Given the description of an element on the screen output the (x, y) to click on. 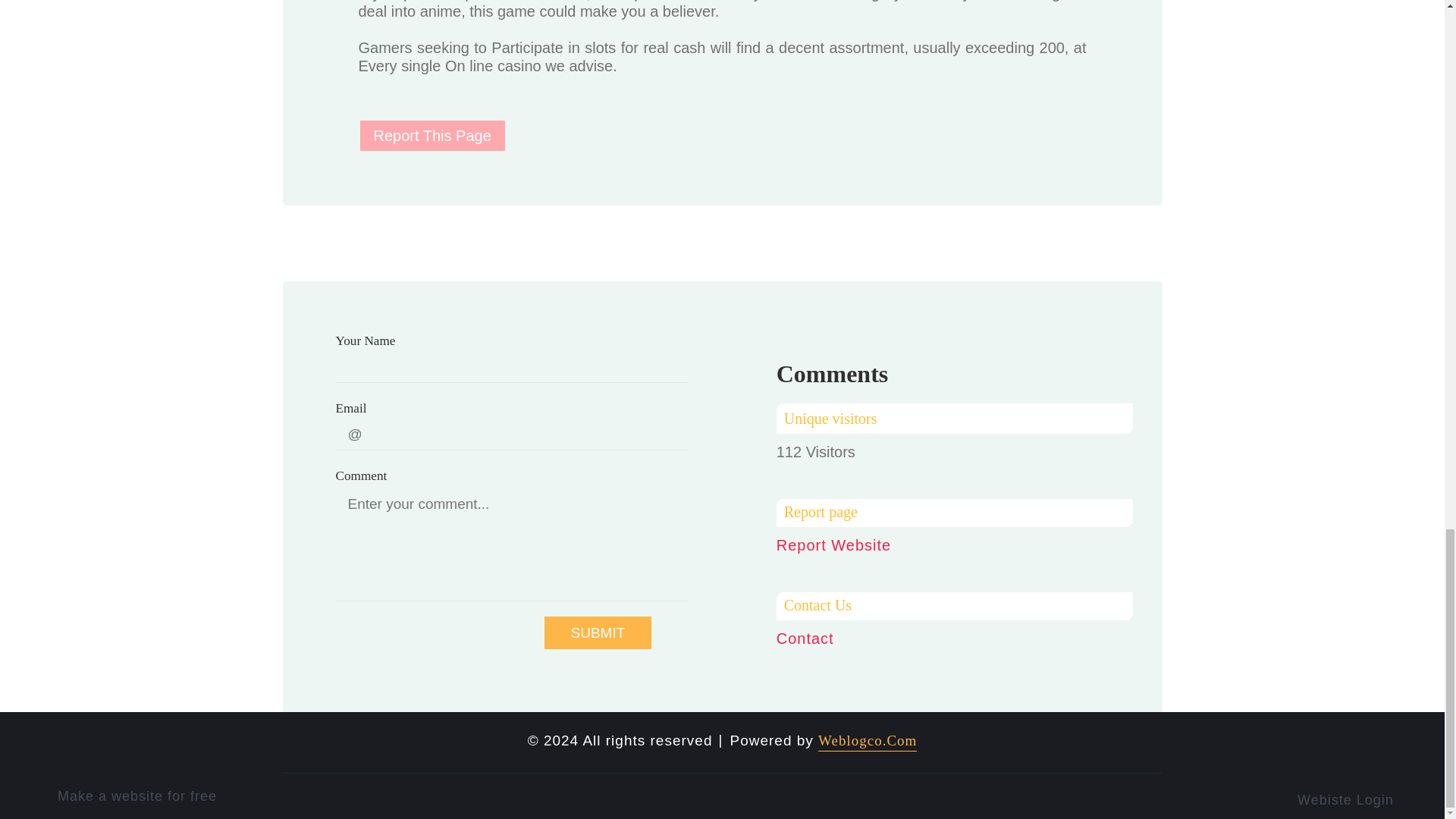
Webiste Login (1355, 798)
Report Website (833, 545)
Contact (805, 638)
Make a website for free (141, 795)
Report This Page (431, 135)
SUBMIT (598, 632)
Weblogco.Com (867, 741)
